Given the description of an element on the screen output the (x, y) to click on. 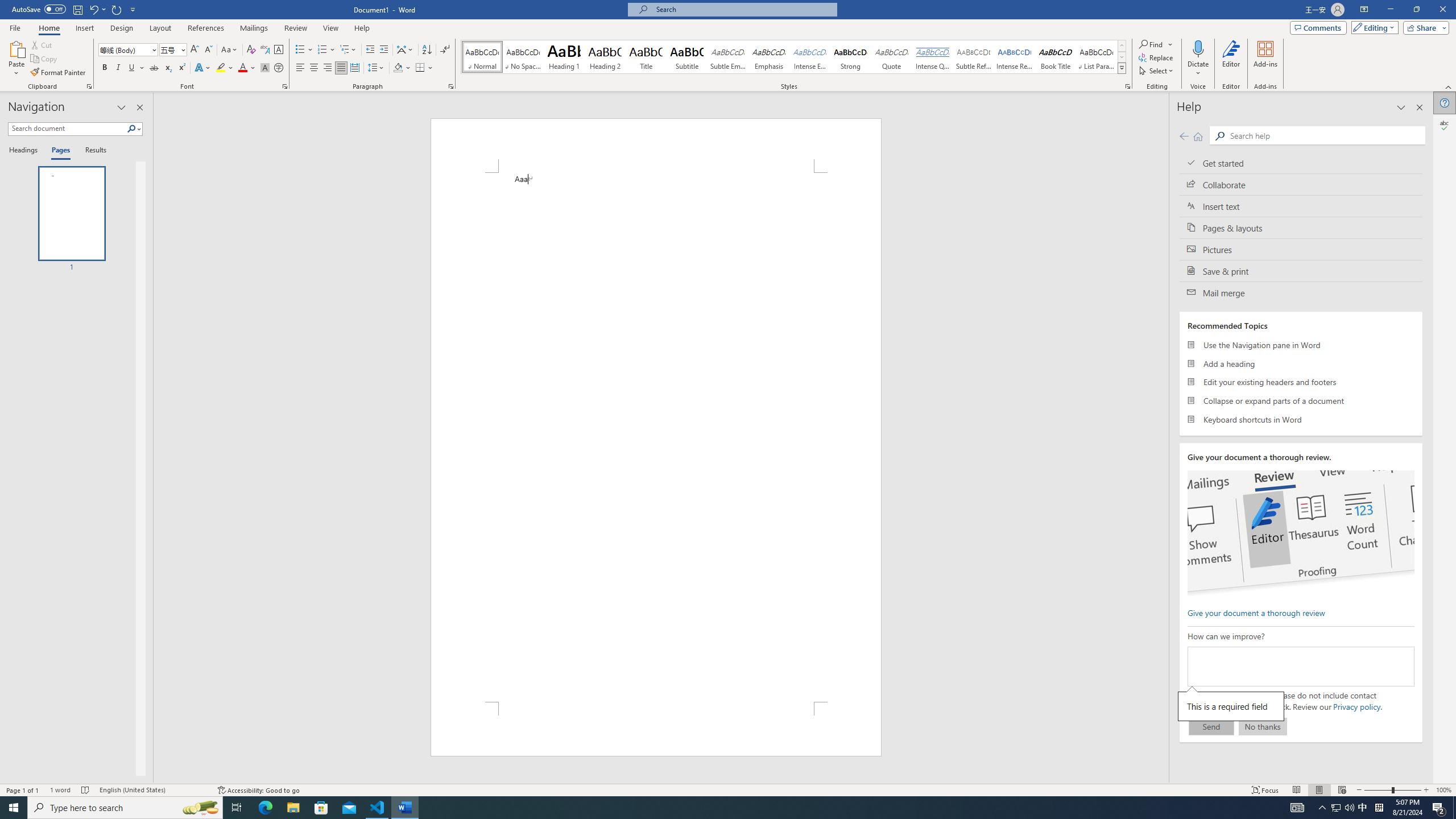
Mail merge (1300, 292)
Collaborate (1300, 184)
Use the Navigation pane in Word (1300, 344)
Heading 2 (605, 56)
Previous page (1183, 136)
